Given the description of an element on the screen output the (x, y) to click on. 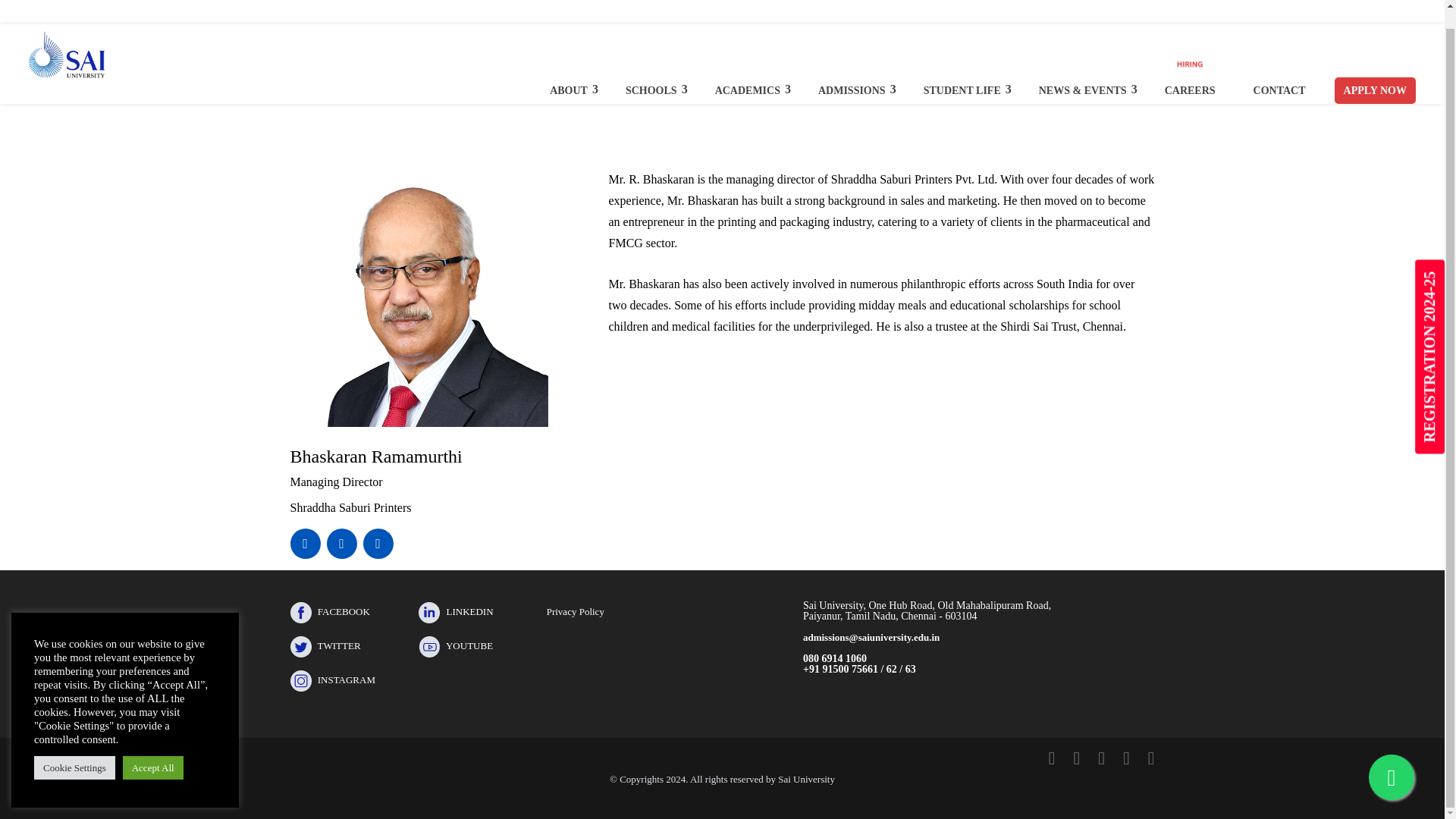
Go to Sai University. (302, 96)
ADMISSIONS (852, 72)
ABOUT (568, 72)
Go to the Board of Directors Team Category archives. (370, 96)
ACADEMICS (747, 72)
STUDENT LIFE (962, 72)
SCHOOLS (650, 72)
